Given the description of an element on the screen output the (x, y) to click on. 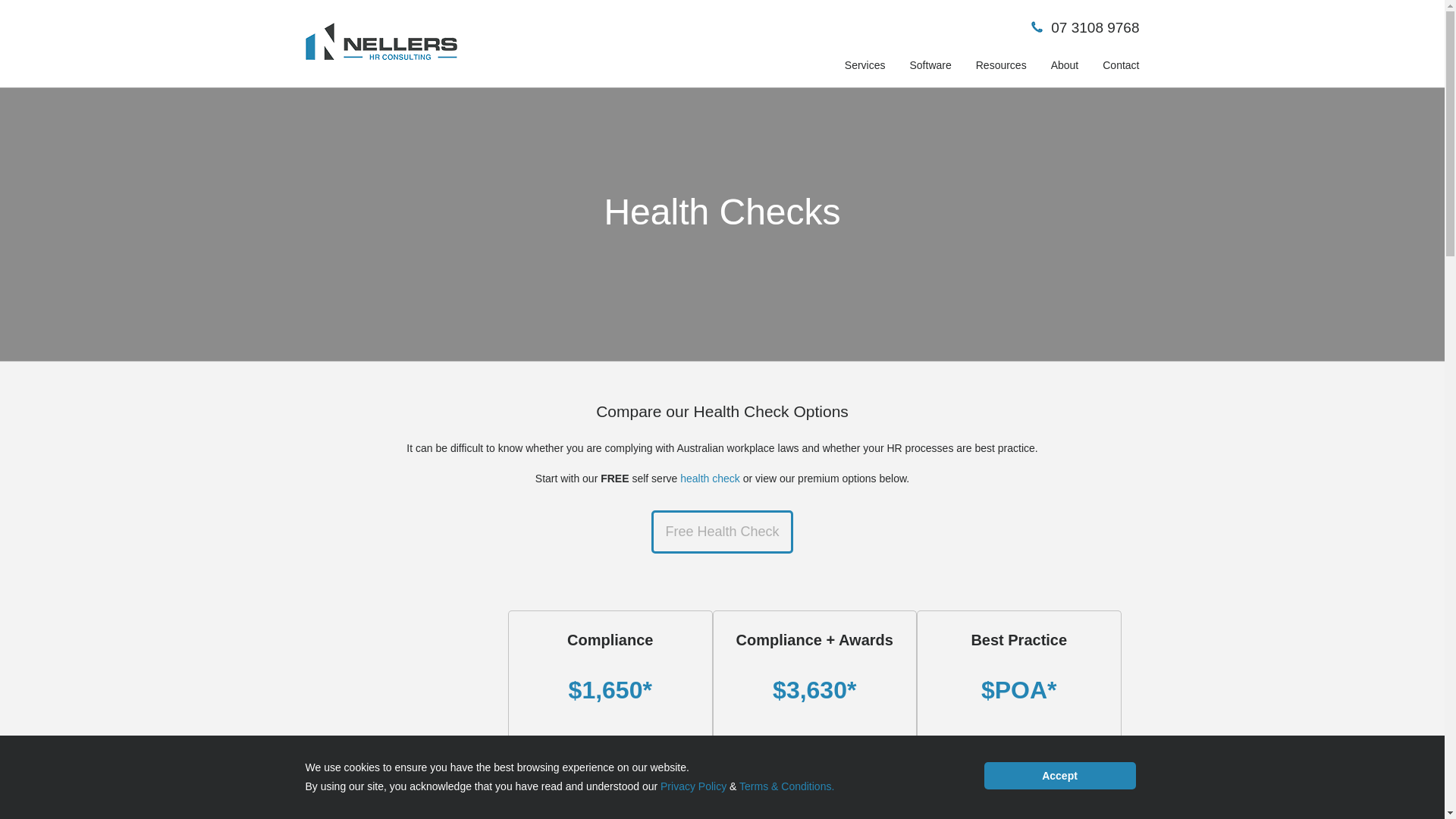
Free Health Check (721, 531)
Privacy Policy (693, 786)
health check (709, 478)
07 3108 9768 (1094, 27)
Nellers HR Consulting (380, 41)
Accept (1059, 775)
Free Health Check (721, 532)
